Given the description of an element on the screen output the (x, y) to click on. 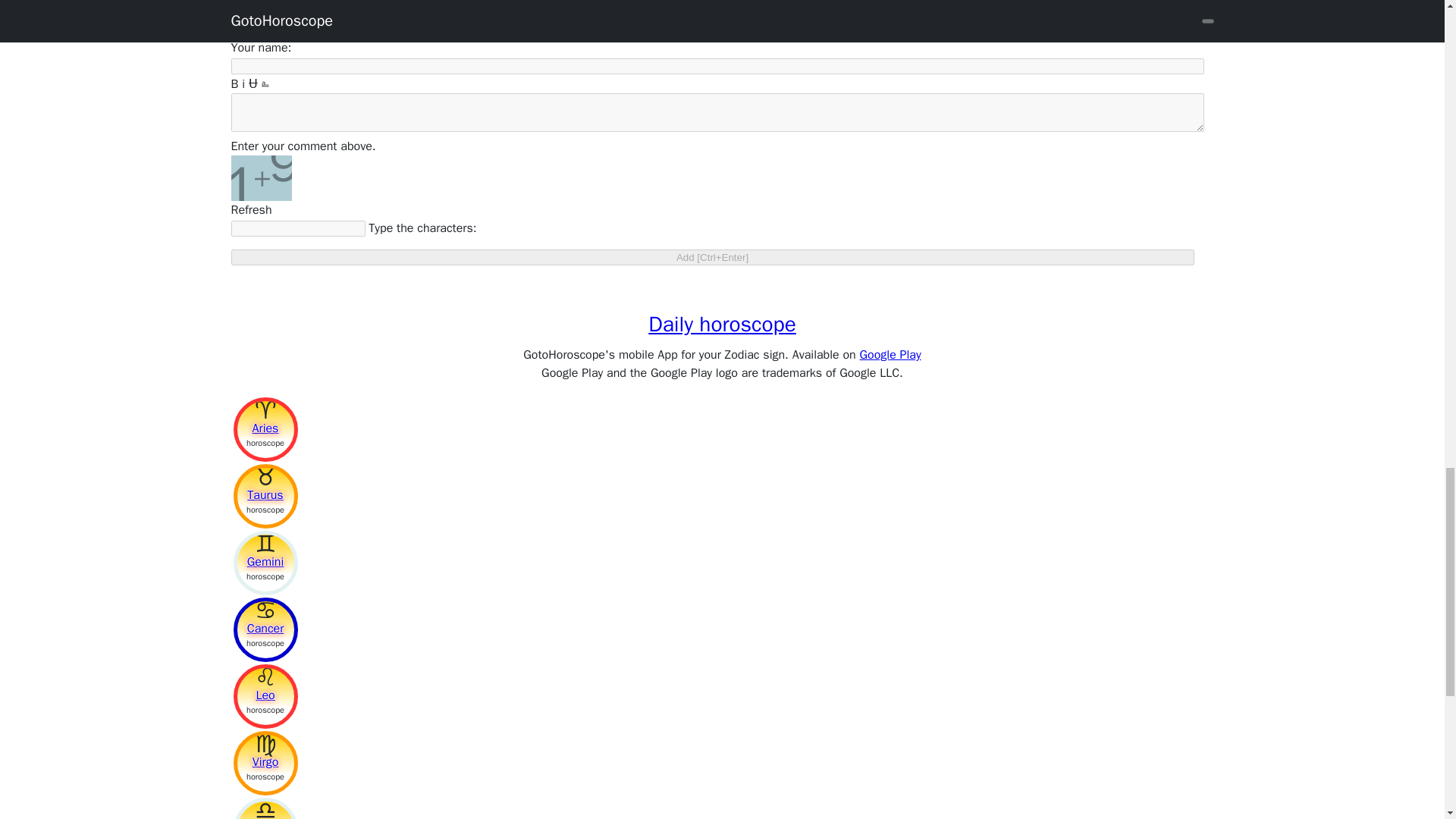
Refresh (250, 209)
